Given the description of an element on the screen output the (x, y) to click on. 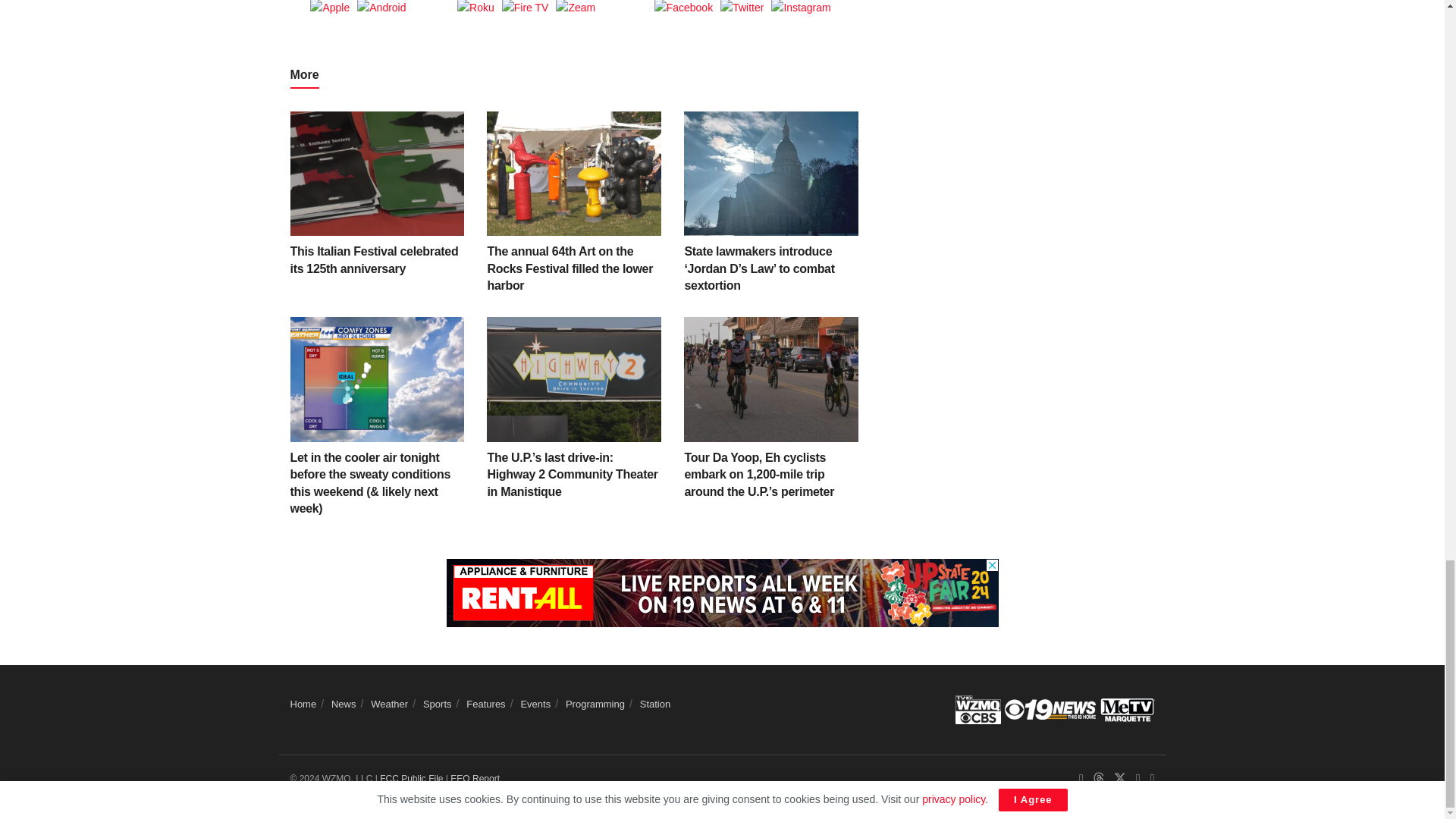
3rd party ad content (721, 592)
